Given the description of an element on the screen output the (x, y) to click on. 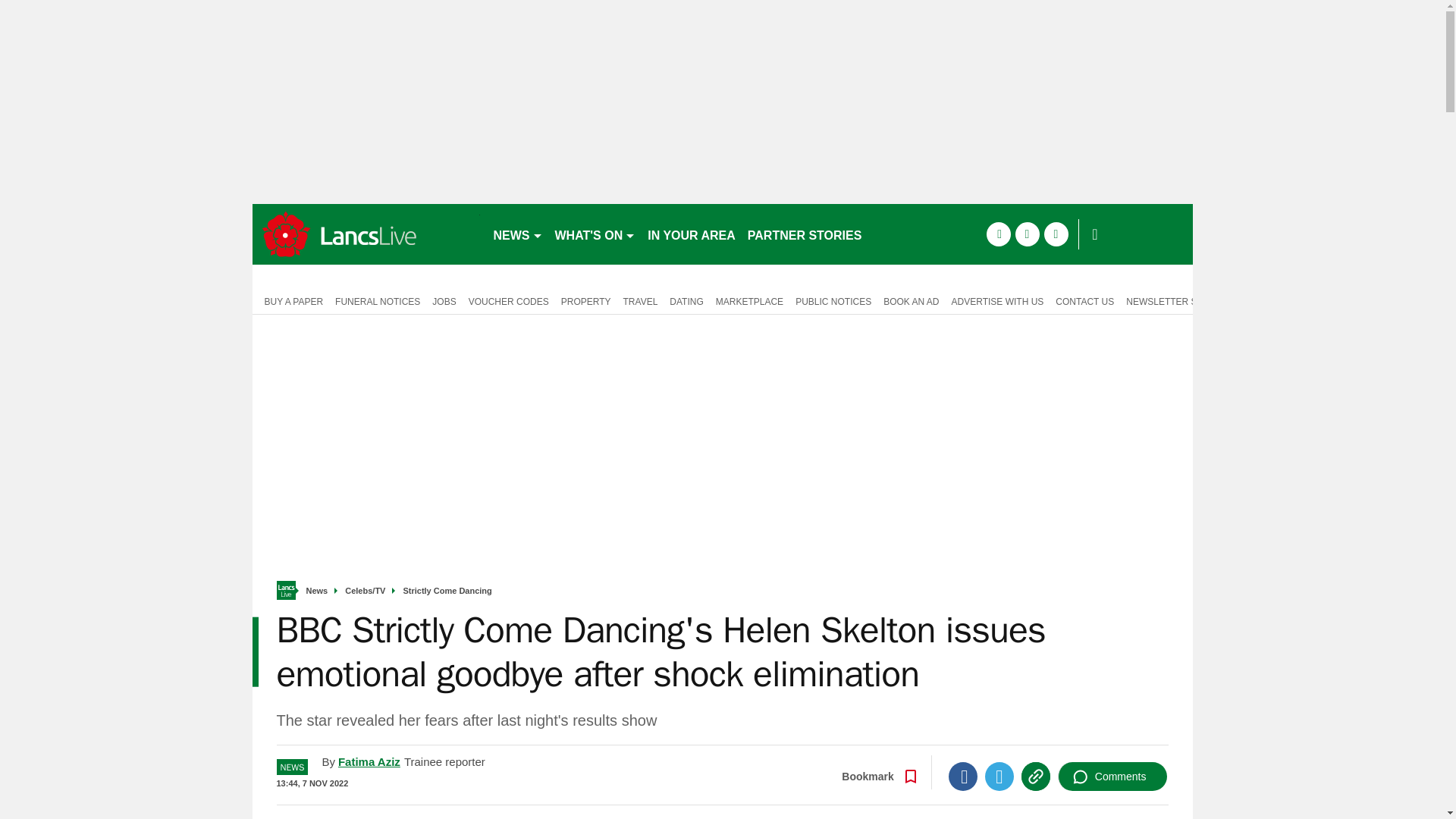
DATING (686, 300)
PUBLIC NOTICES (833, 300)
PARTNER STORIES (804, 233)
BUY A PAPER (290, 300)
MARKETPLACE (749, 300)
Comments (1112, 776)
instagram (1055, 233)
ADVERTISE WITH US (996, 300)
TRAVEL (640, 300)
IN YOUR AREA (691, 233)
